Given the description of an element on the screen output the (x, y) to click on. 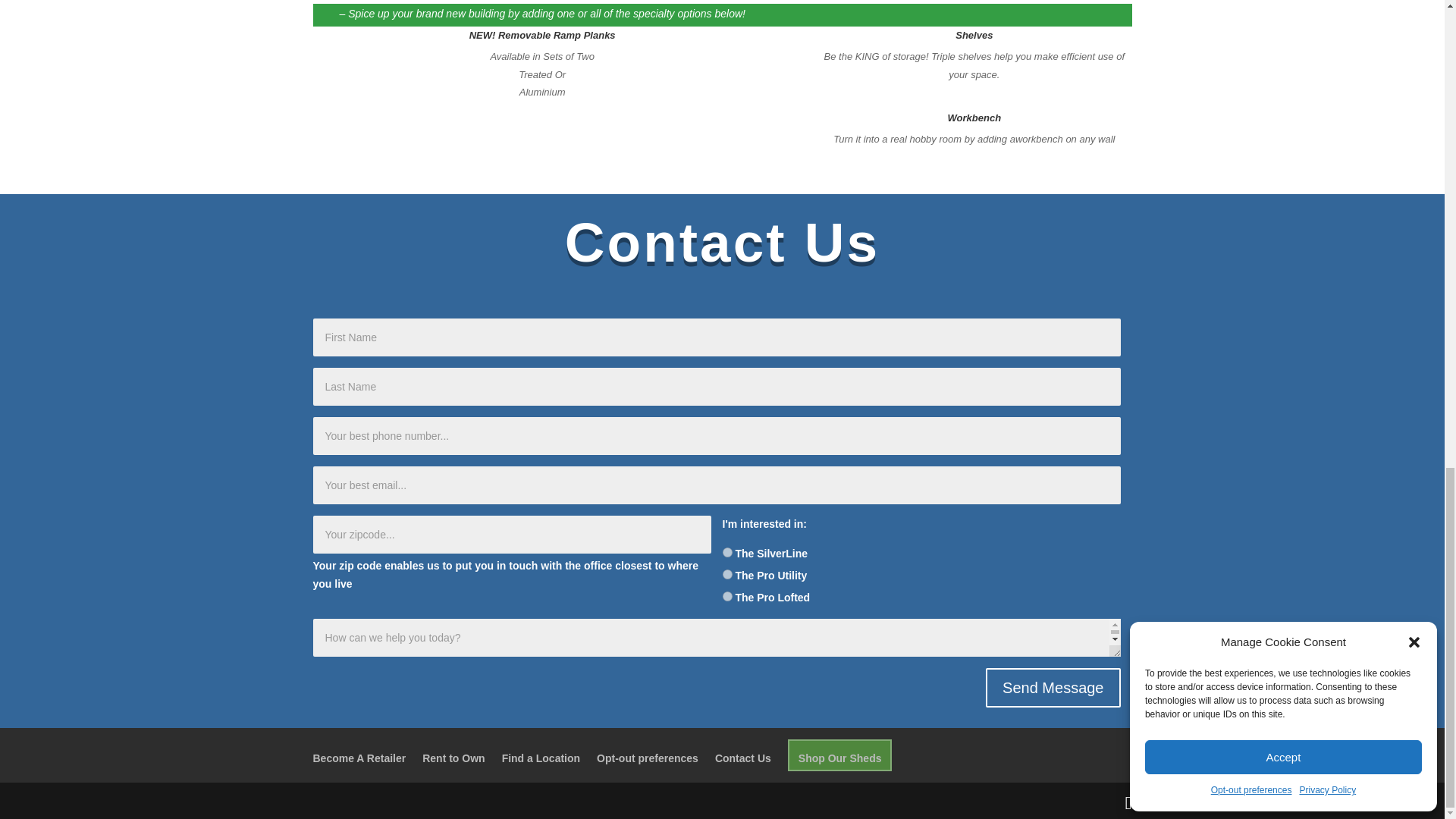
Send Message (1052, 688)
Send Message (1052, 688)
The Pro Lofted (727, 596)
The Pro Utility (727, 574)
The SilverLine (727, 552)
